Given the description of an element on the screen output the (x, y) to click on. 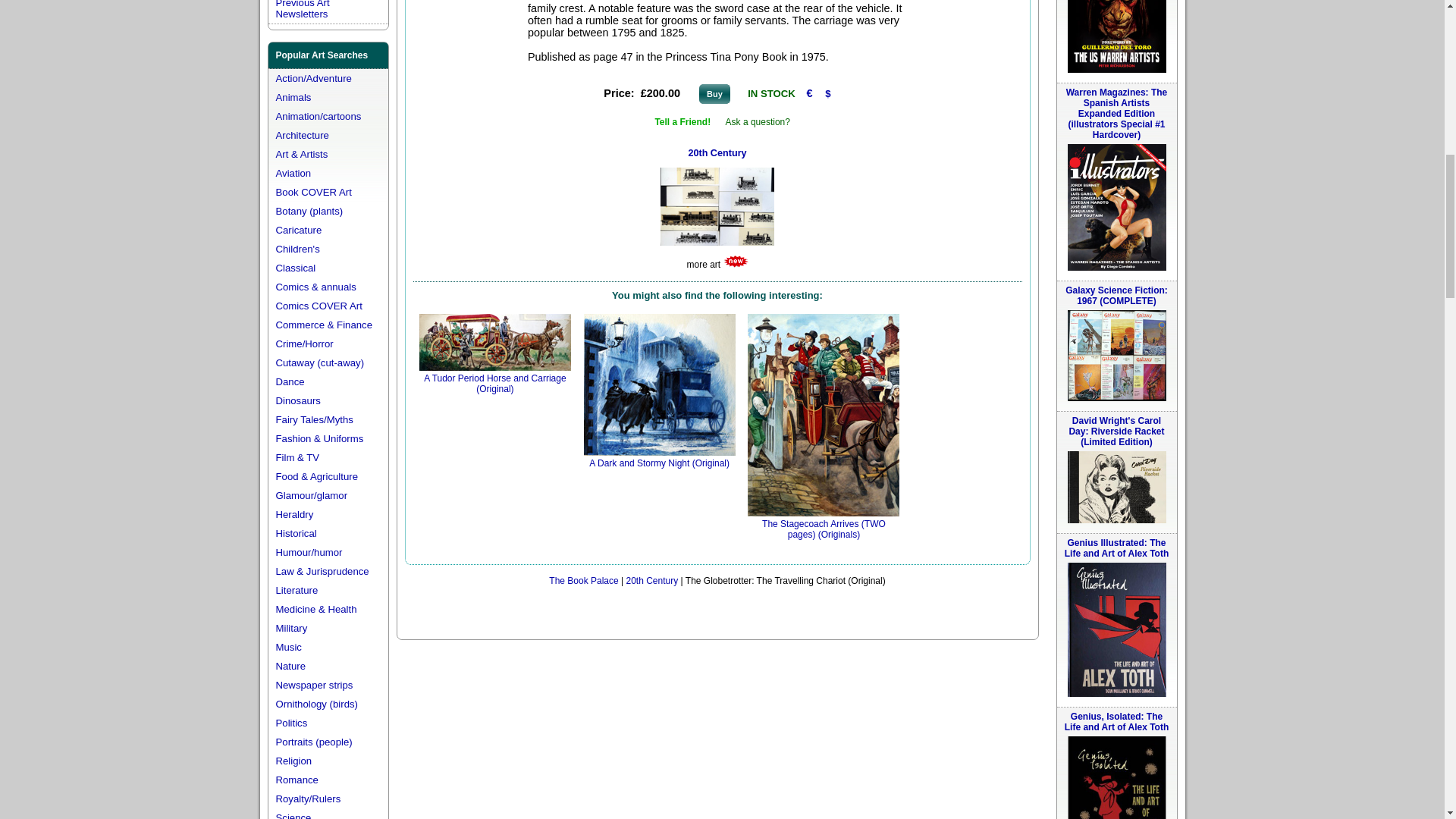
Buy (714, 94)
